Given the description of an element on the screen output the (x, y) to click on. 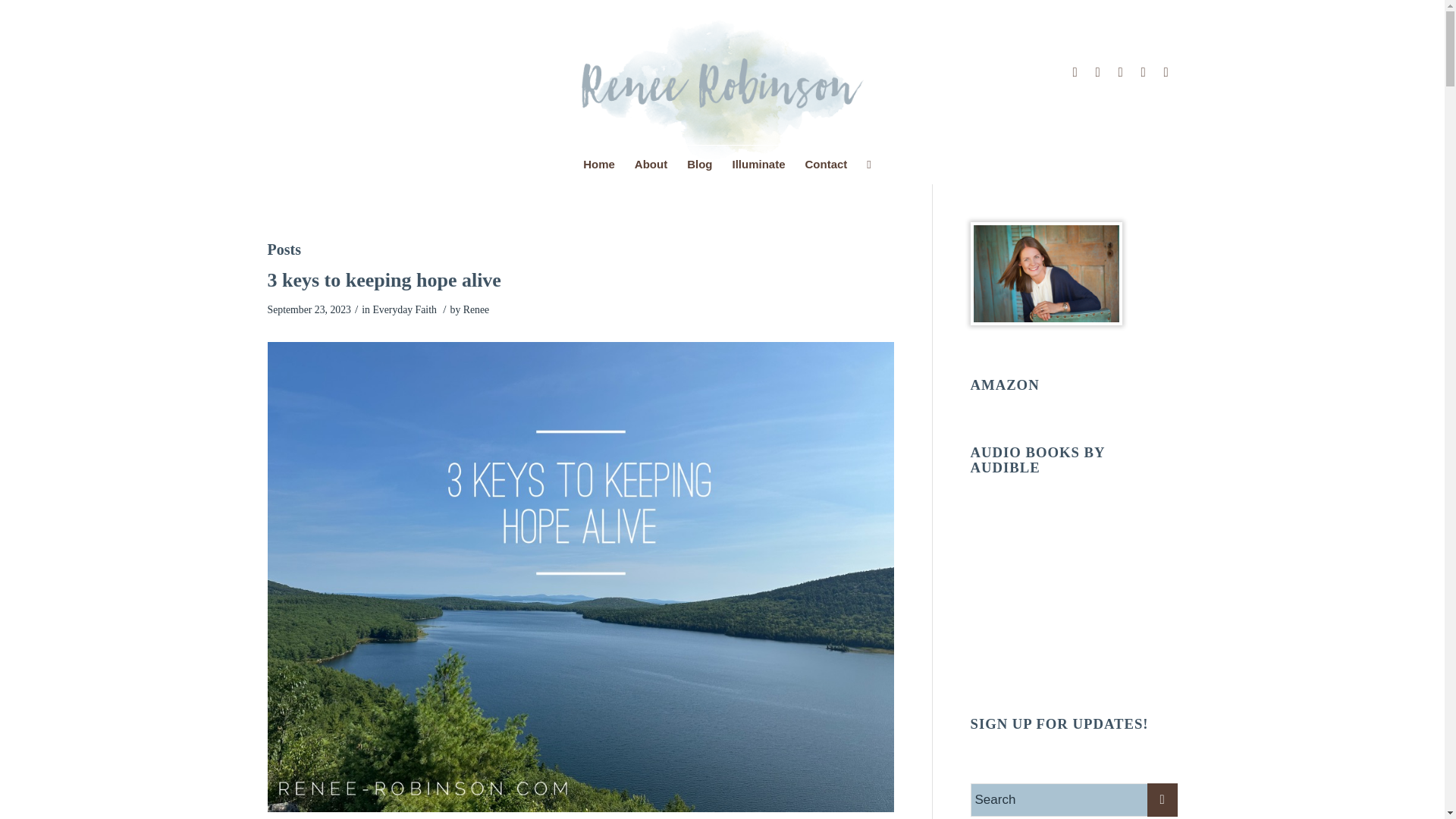
Blog (699, 164)
About (650, 164)
Facebook (1142, 72)
Everyday Faith (403, 309)
Home (598, 164)
Illuminate (758, 164)
Instagram (1119, 72)
Permanent Link: 3 keys to keeping hope alive (383, 280)
Instagram (1097, 72)
Rss (1165, 72)
Posts by Renee (476, 309)
Renee (476, 309)
Contact (825, 164)
Pinterest (1074, 72)
3 keys to keeping hope alive (383, 280)
